Given the description of an element on the screen output the (x, y) to click on. 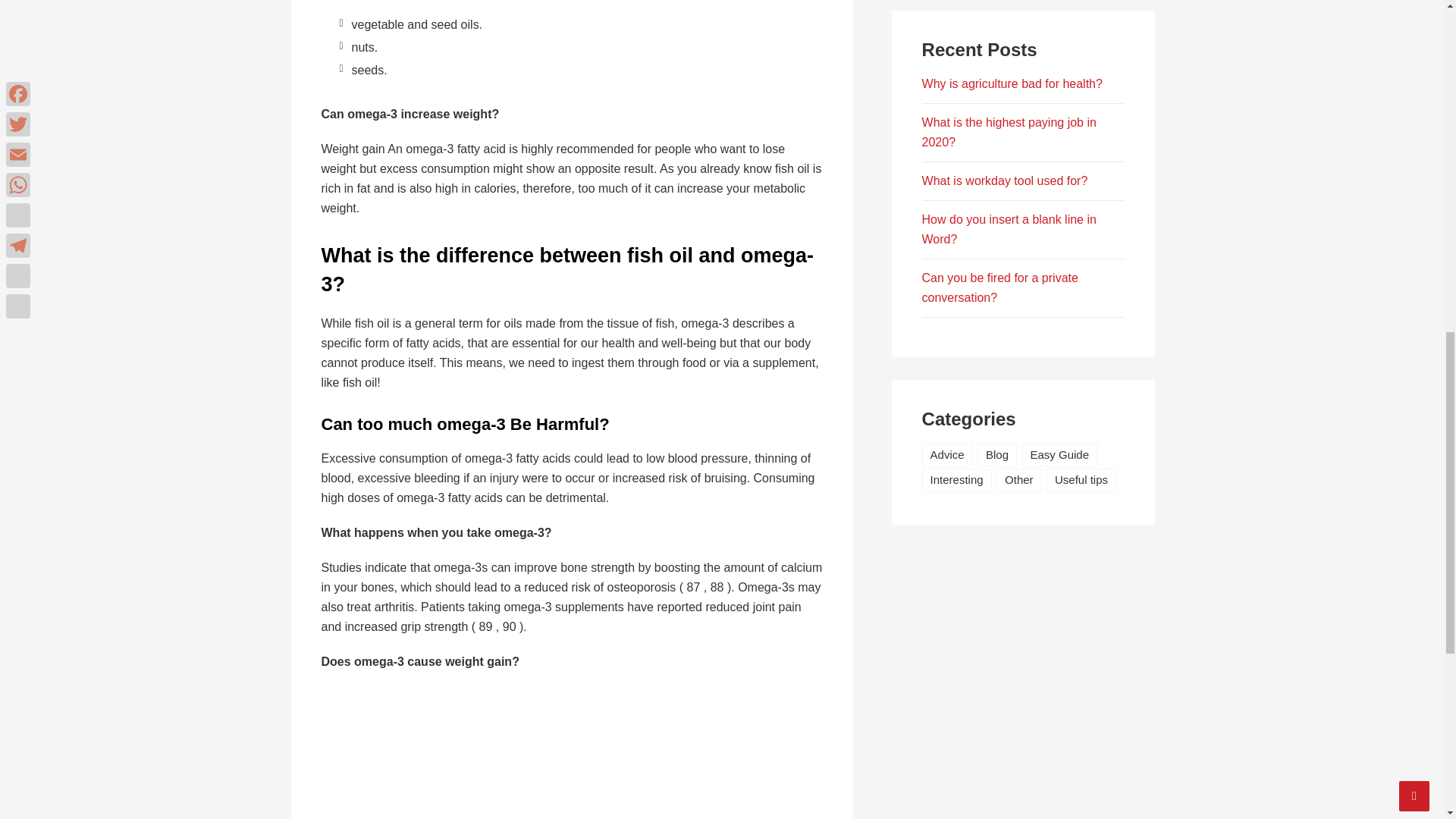
Why is agriculture bad for health? (1011, 83)
What is the highest paying job in 2020? (1008, 132)
